Given the description of an element on the screen output the (x, y) to click on. 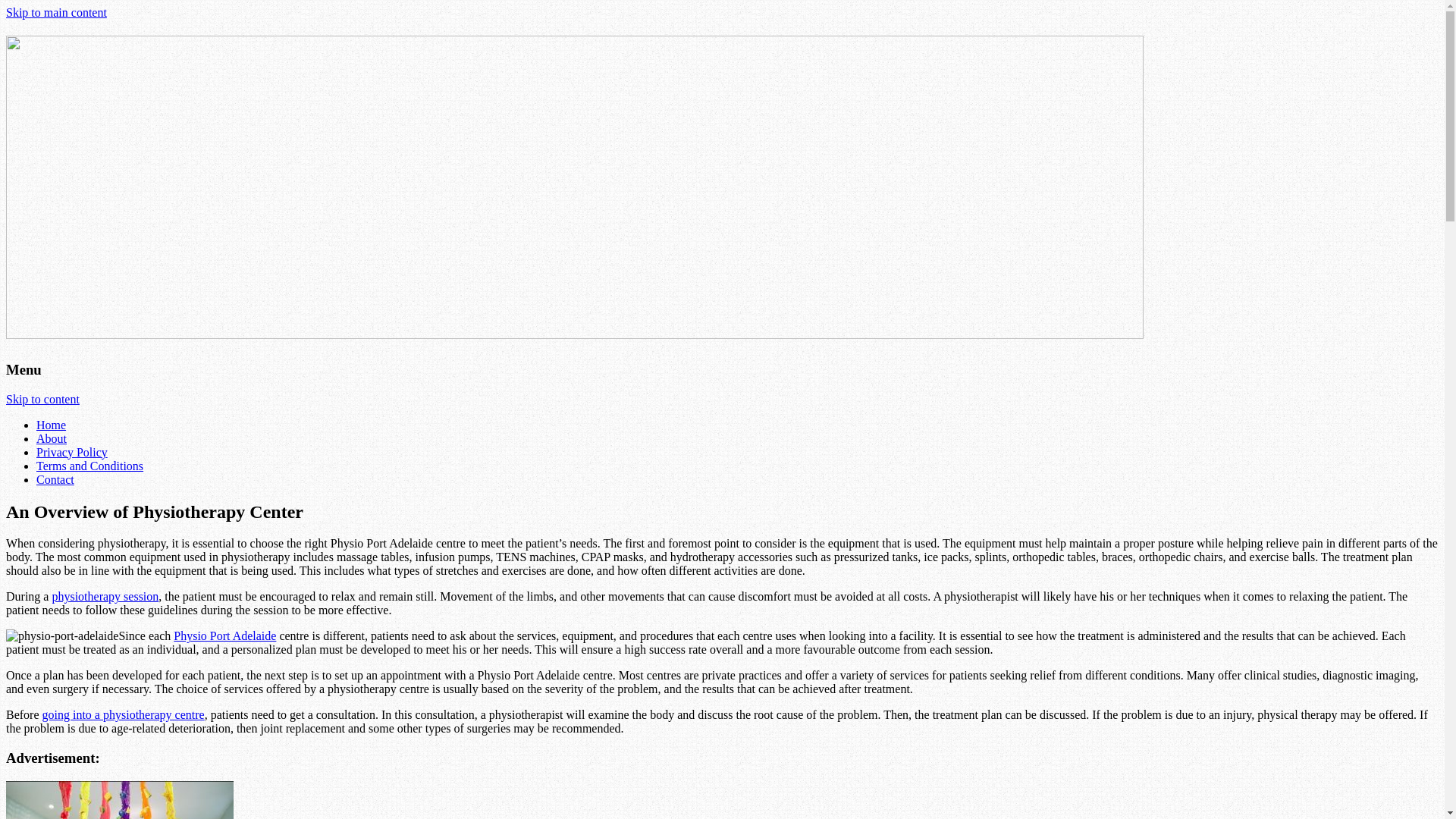
Contact Element type: text (55, 479)
Skip to content Element type: text (42, 398)
Four Seasons Holiday Cottages Element type: hover (574, 330)
physiotherapy session Element type: text (104, 595)
Privacy Policy Element type: text (71, 451)
Skip to main content Element type: text (56, 12)
Terms and Conditions Element type: text (89, 465)
Home Element type: text (50, 424)
going into a physiotherapy centre Element type: text (123, 714)
Physio Port Adelaide Element type: text (224, 635)
About Element type: text (51, 438)
